Given the description of an element on the screen output the (x, y) to click on. 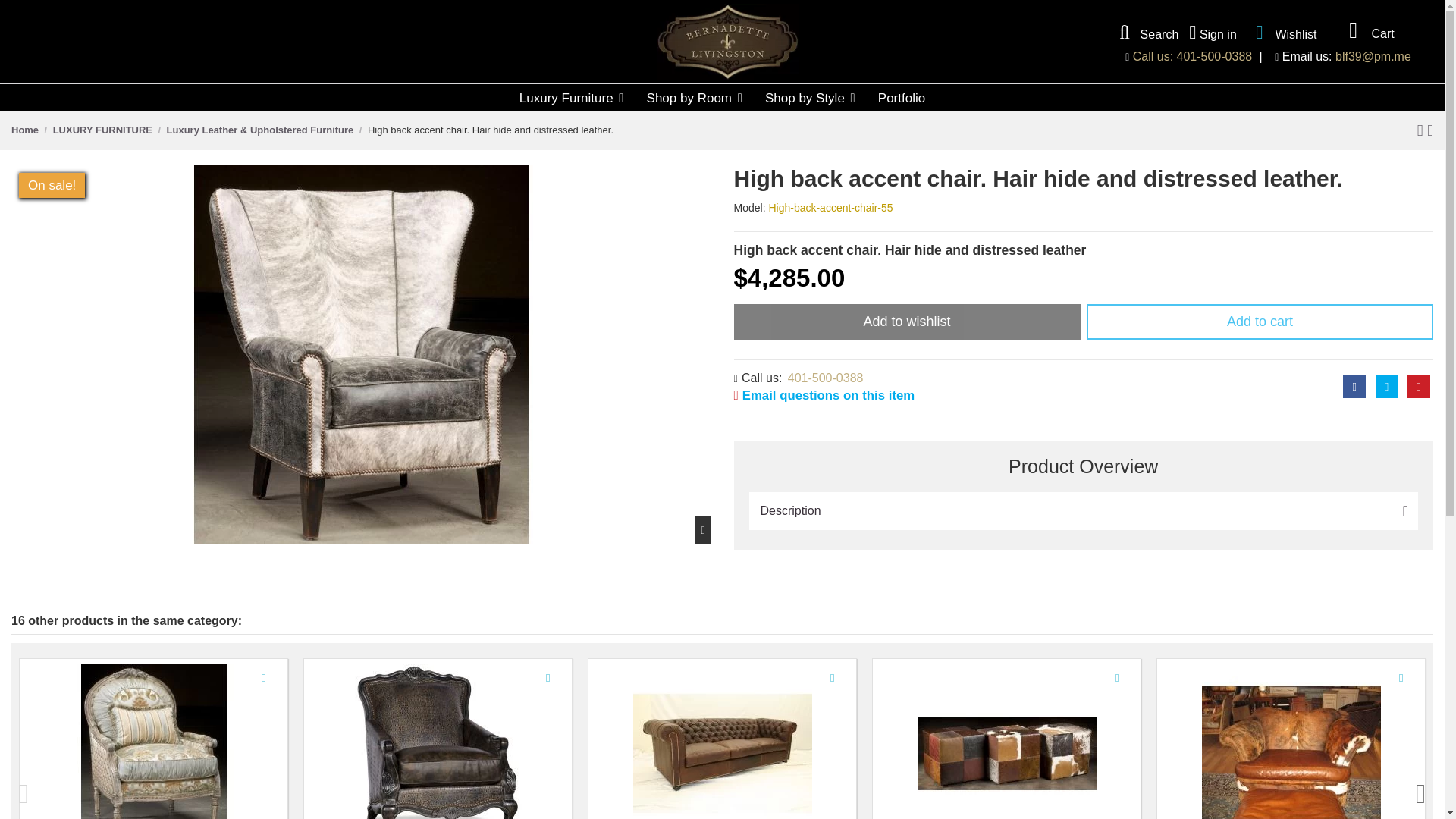
Tweet (1386, 386)
Pinterest (1418, 386)
Sign in (1212, 32)
Cart (1366, 29)
Share (1353, 386)
Luxury Furniture (571, 97)
Search (1144, 32)
Wishlist (1282, 32)
Call us: 401-500-0388 (1192, 56)
